Given the description of an element on the screen output the (x, y) to click on. 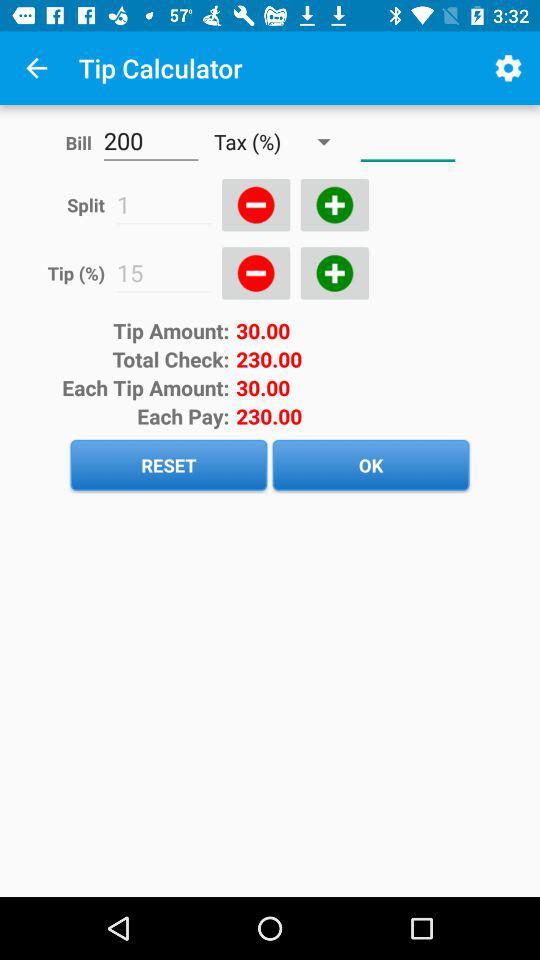
decline (255, 273)
